Given the description of an element on the screen output the (x, y) to click on. 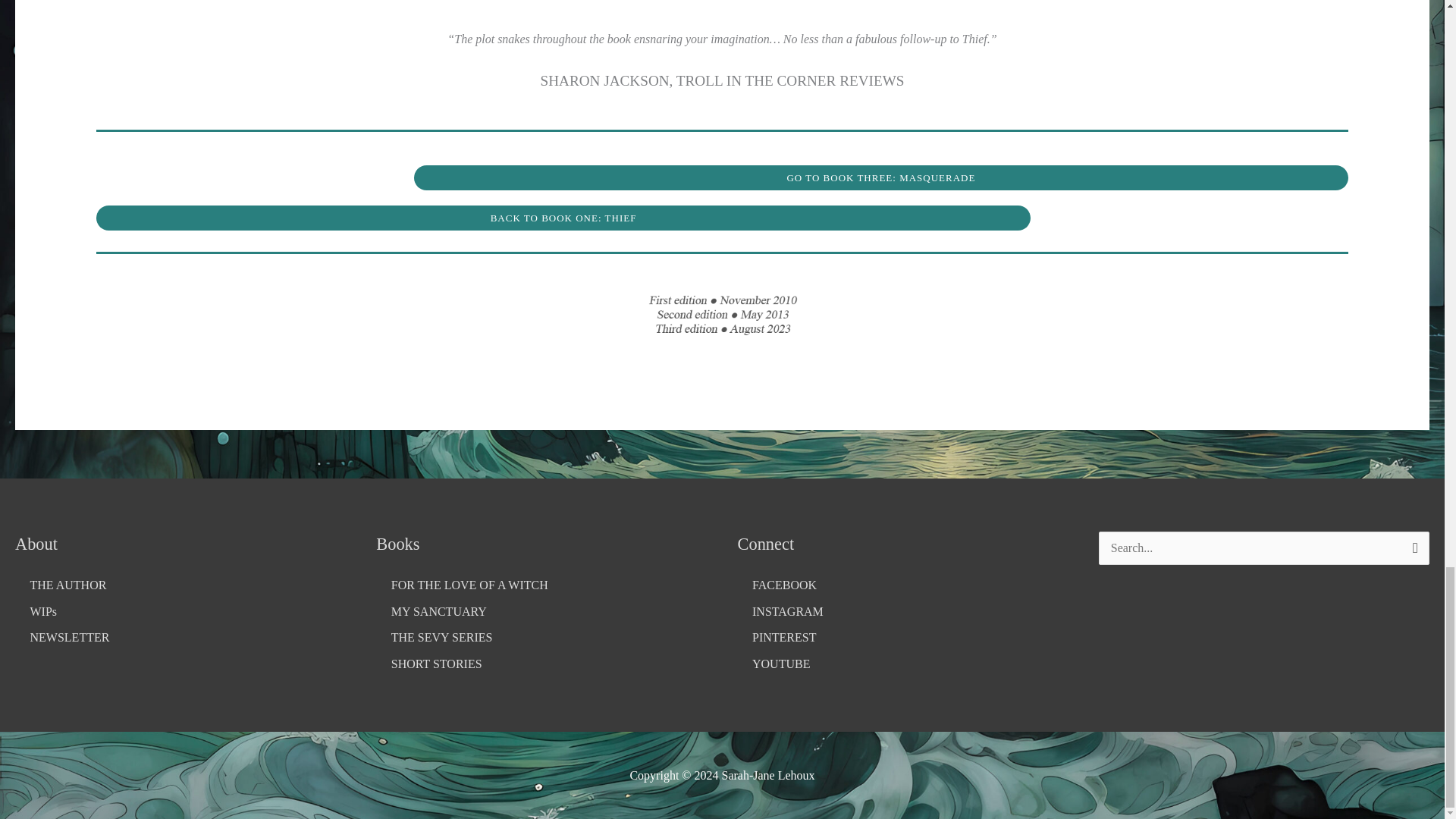
Search (1411, 549)
THE SEVY SERIES (540, 637)
PINTEREST (901, 637)
Search (1411, 549)
YOUTUBE (901, 663)
MY SANCTUARY (540, 611)
WIPs (180, 611)
THE AUTHOR (180, 585)
SHORT STORIES (540, 663)
Search (1411, 549)
